Given the description of an element on the screen output the (x, y) to click on. 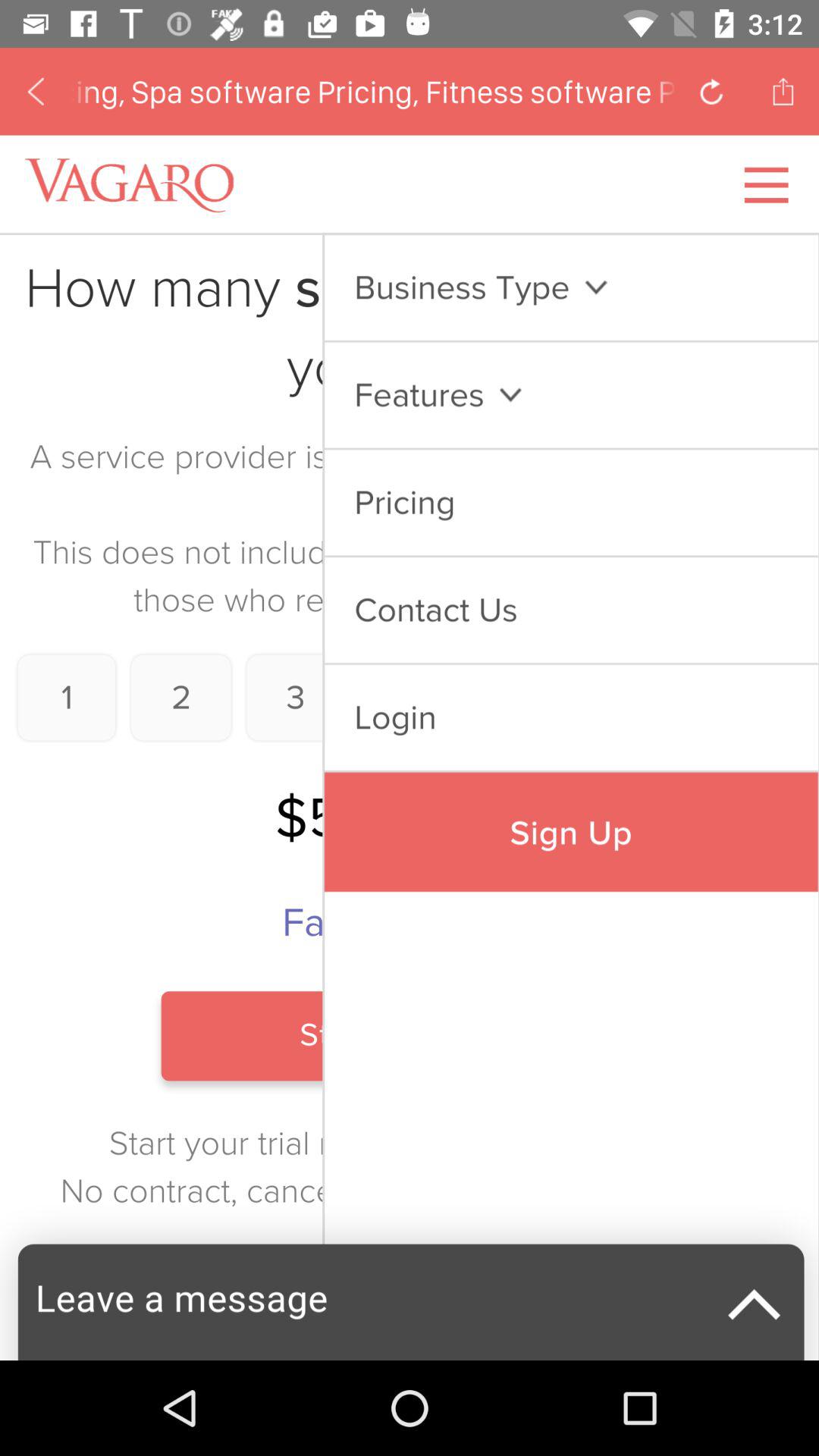
go to previous page (35, 91)
